Given the description of an element on the screen output the (x, y) to click on. 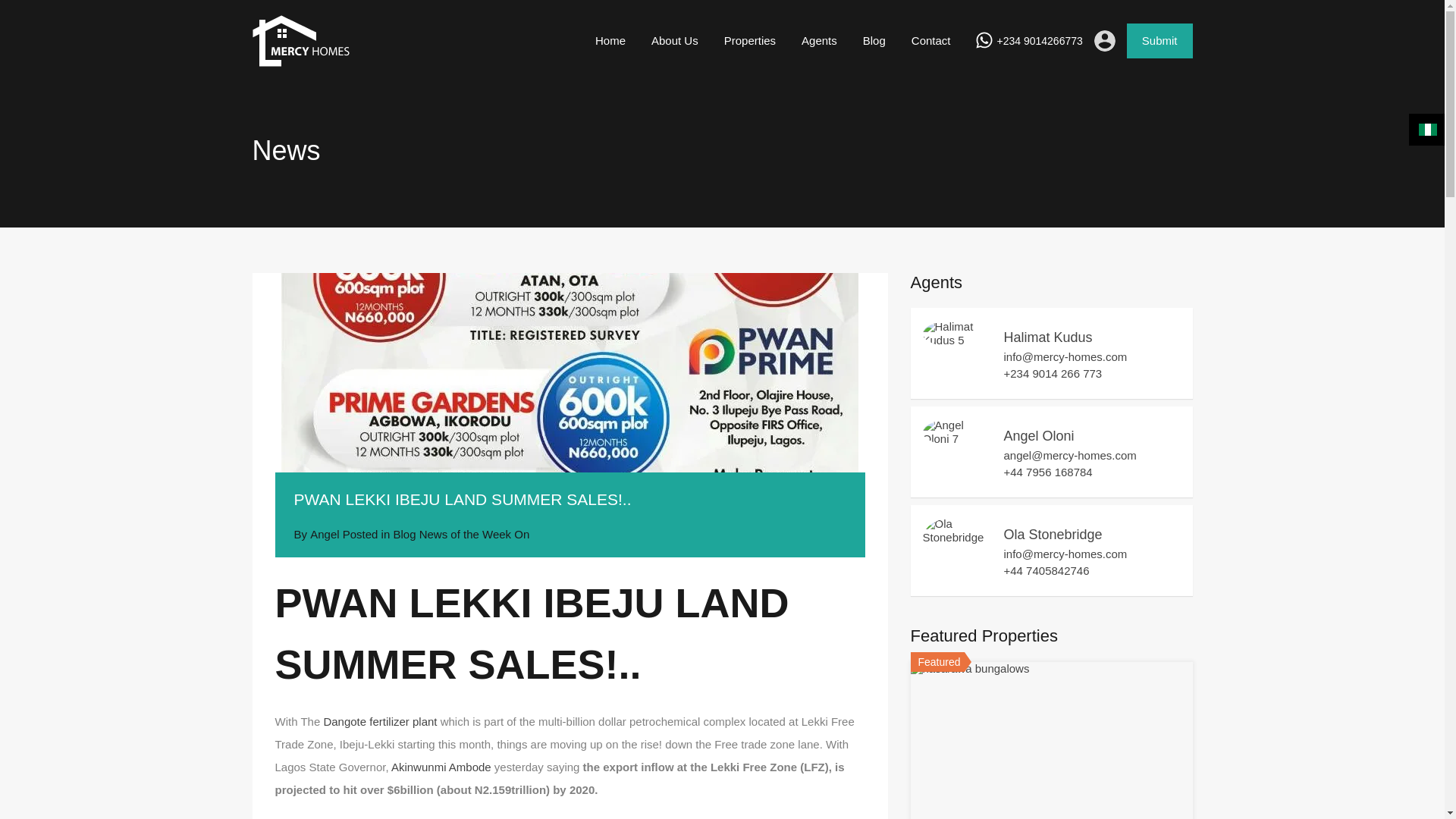
Dangote fertilizer plant (379, 720)
Ola Stonebridge (1053, 534)
Home (610, 40)
About Us (675, 40)
Angel Oloni (954, 438)
Halimat Kudus (954, 339)
Akinwunmi Ambode (441, 766)
Agents (819, 40)
Halimat Kudus 7 (954, 333)
Blog News of the Week (452, 533)
Blog (874, 40)
Angel Oloni (1039, 435)
Submit (1159, 40)
Halimat Kudus (1048, 337)
